Given the description of an element on the screen output the (x, y) to click on. 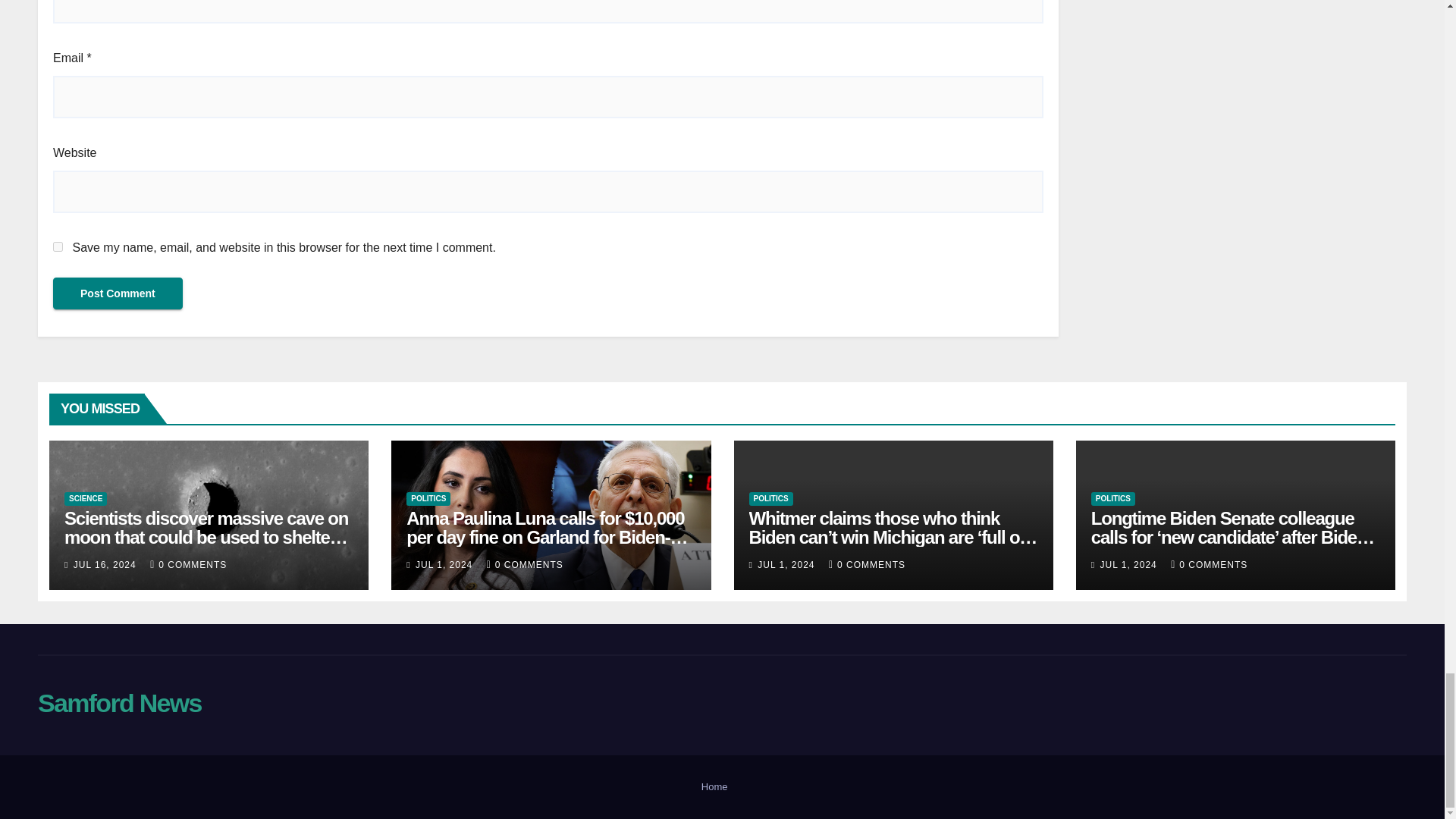
Post Comment (117, 293)
Post Comment (117, 293)
yes (57, 246)
